Given the description of an element on the screen output the (x, y) to click on. 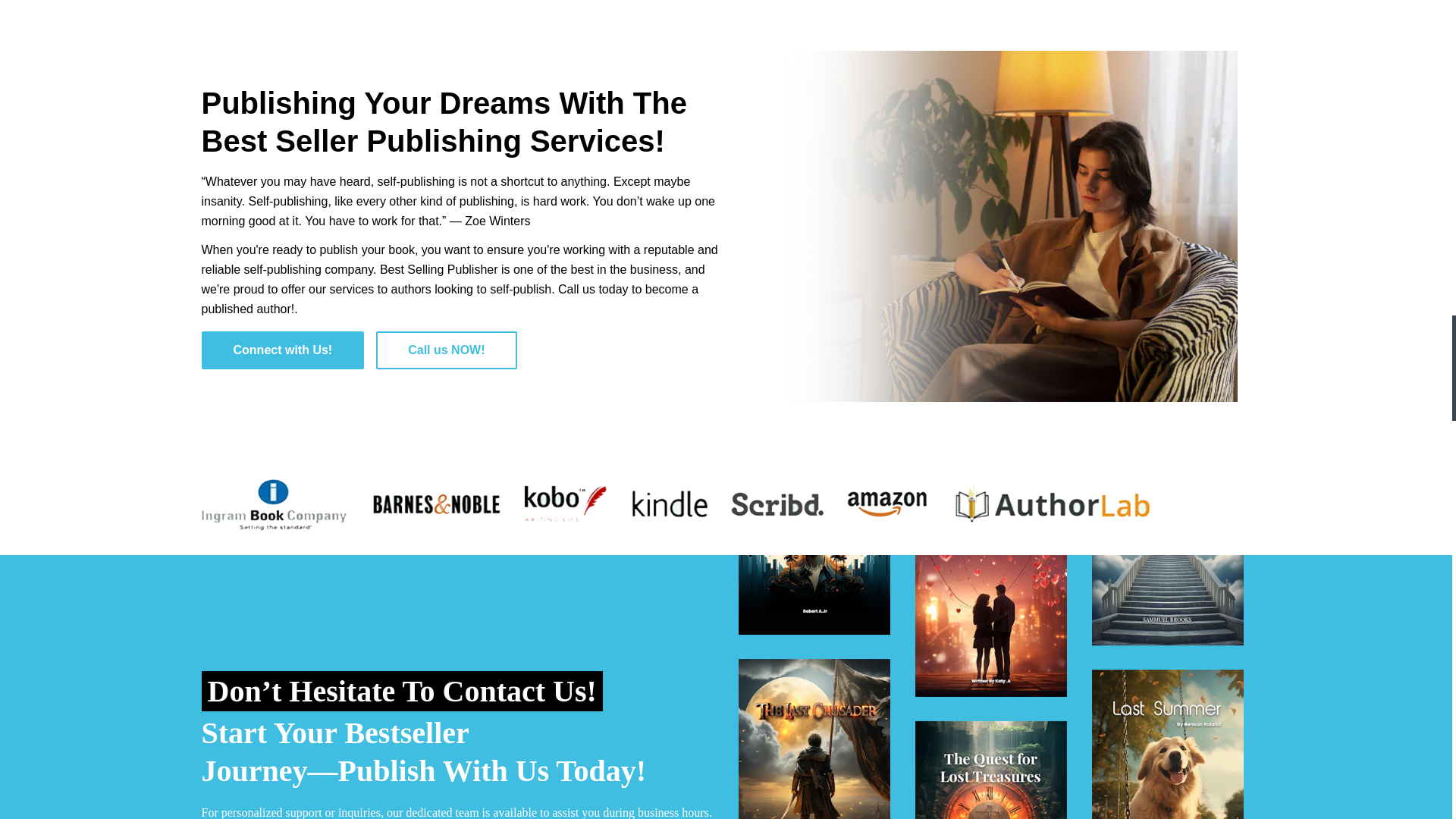
Connect with Us! (283, 350)
Call us NOW! (445, 350)
